Given the description of an element on the screen output the (x, y) to click on. 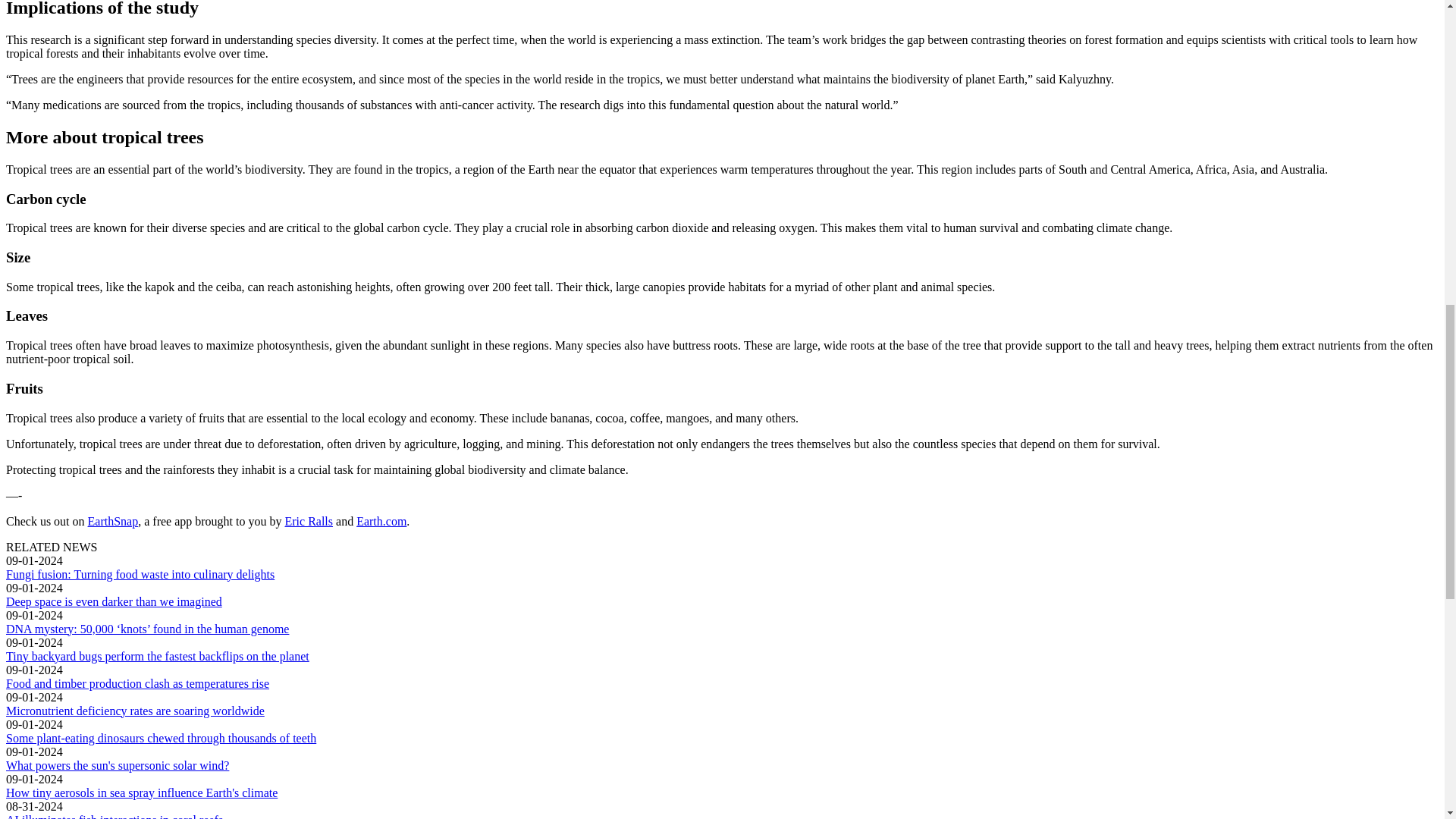
What powers the sun's supersonic solar wind? (116, 765)
Earth.com (381, 521)
EarthSnap (112, 521)
Deep space is even darker than we imagined (113, 601)
Eric Ralls (308, 521)
Food and timber production clash as temperatures rise (137, 683)
AI illuminates fish interactions in coral reefs (113, 816)
Micronutrient deficiency rates are soaring worldwide (134, 710)
How tiny aerosols in sea spray influence Earth's climate (141, 792)
